Given the description of an element on the screen output the (x, y) to click on. 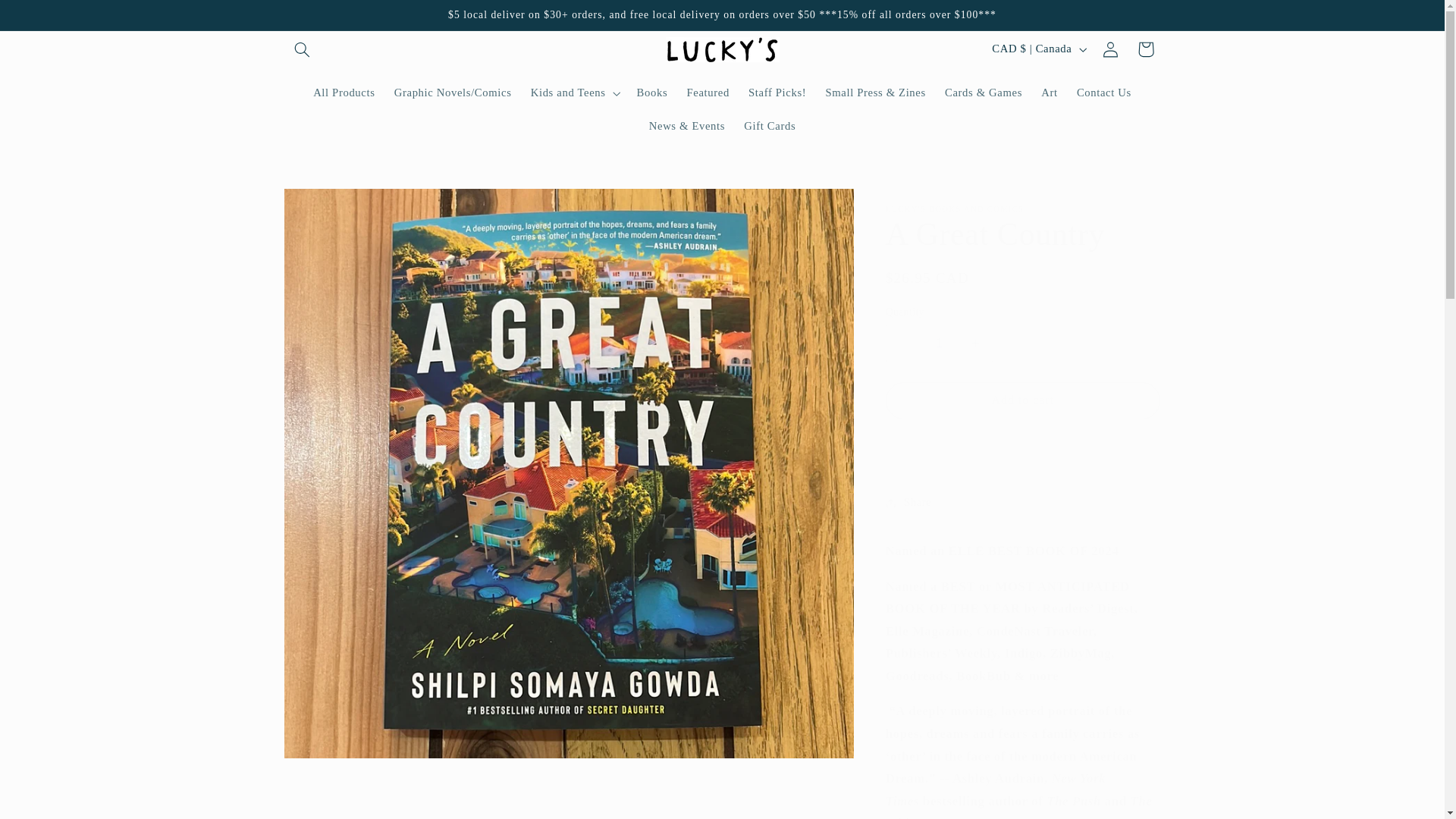
Featured (708, 92)
1 (939, 342)
Log in (1110, 48)
Cart (1145, 48)
Books (652, 92)
Gift Cards (770, 126)
Skip to content (48, 18)
All Products (344, 92)
Contact Us (1103, 92)
